Given the description of an element on the screen output the (x, y) to click on. 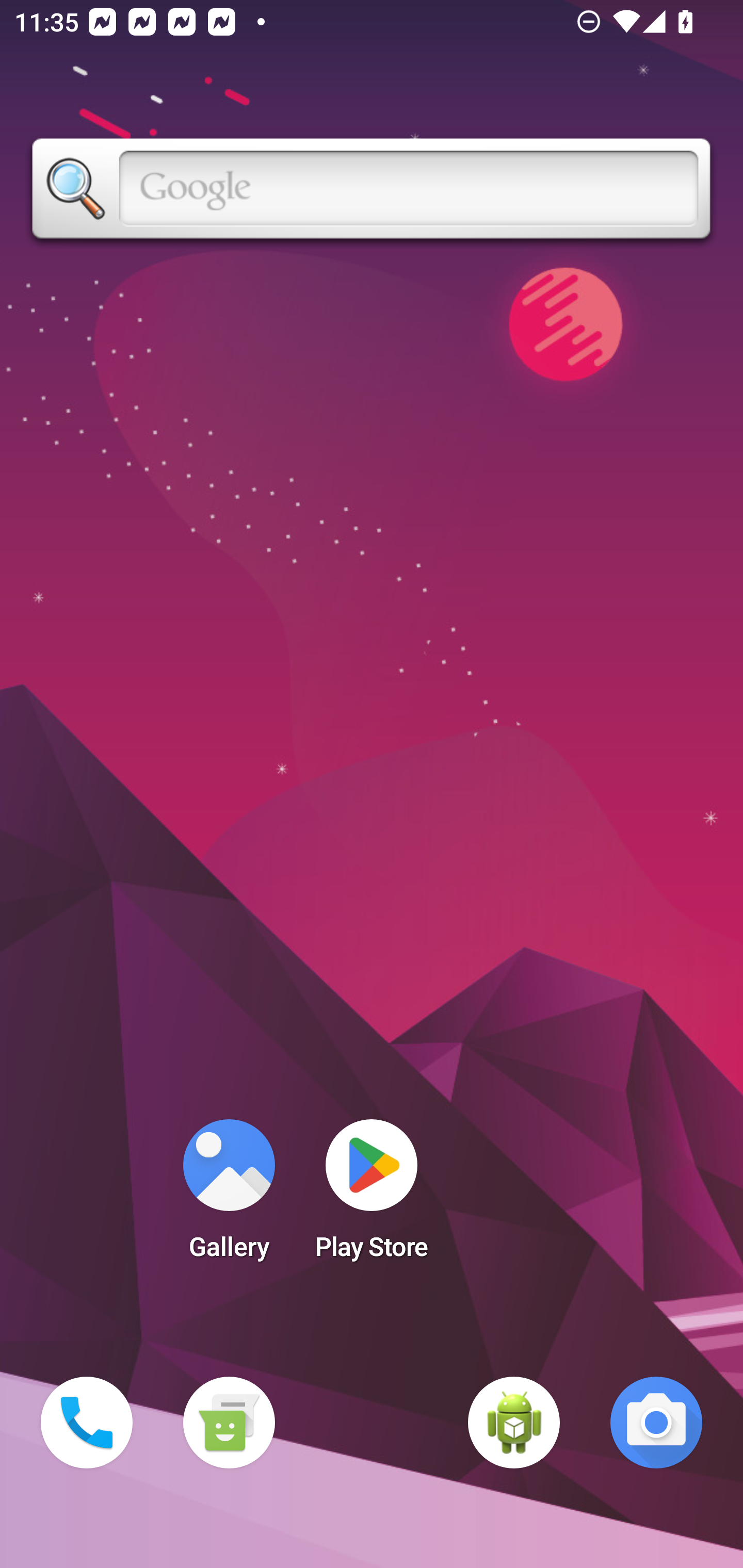
Gallery (228, 1195)
Play Store (371, 1195)
Phone (86, 1422)
Messaging (228, 1422)
WebView Browser Tester (513, 1422)
Camera (656, 1422)
